Given the description of an element on the screen output the (x, y) to click on. 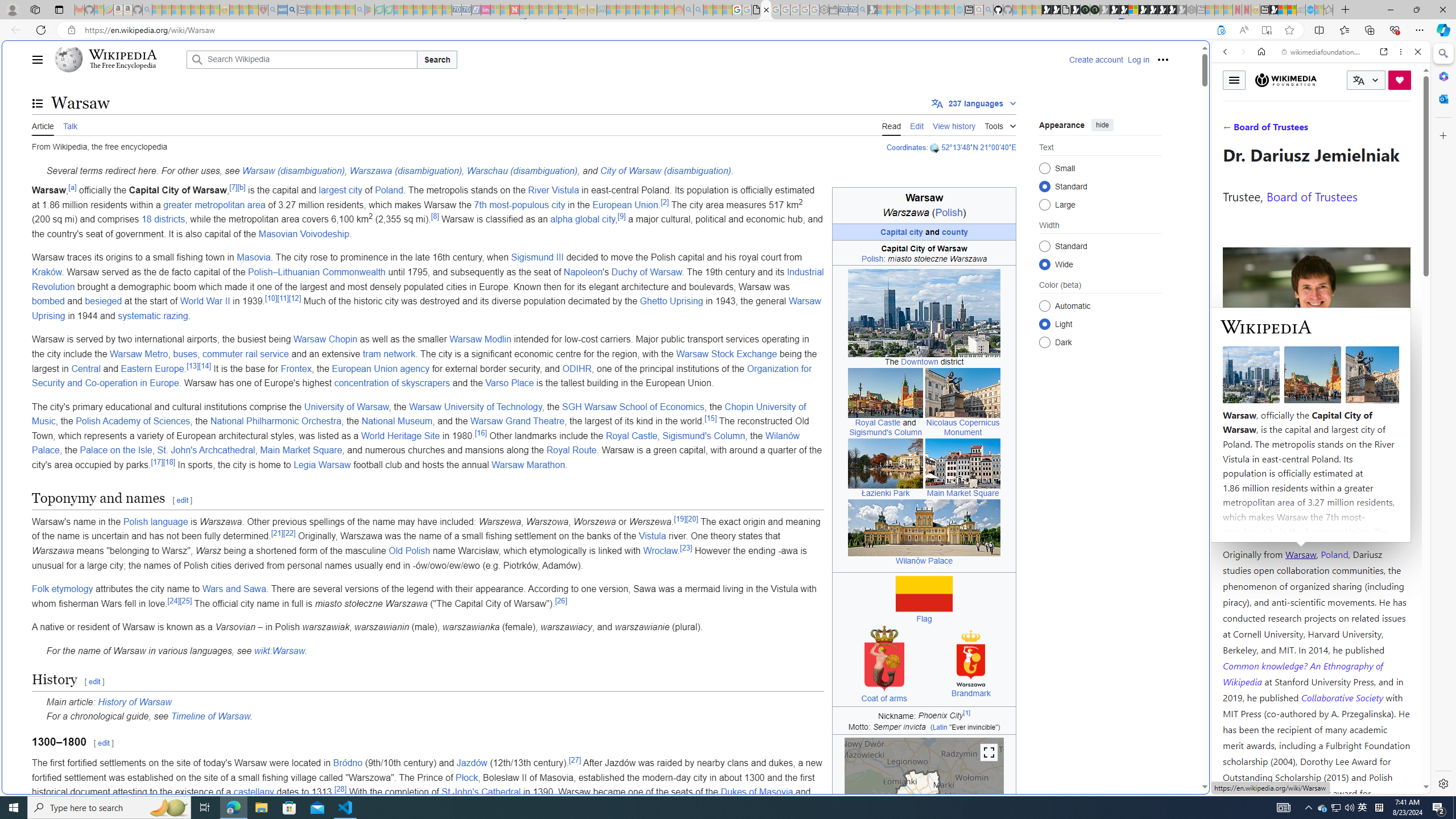
Chopin University of Music (419, 413)
Legia Warsaw (322, 465)
Warsaw University of Technology (475, 406)
Log in (1137, 58)
Warsaw business district from Novotel (924, 313)
Wikipedia The Free Encyclopedia (117, 59)
The Free Encyclopedia (121, 65)
